Given the description of an element on the screen output the (x, y) to click on. 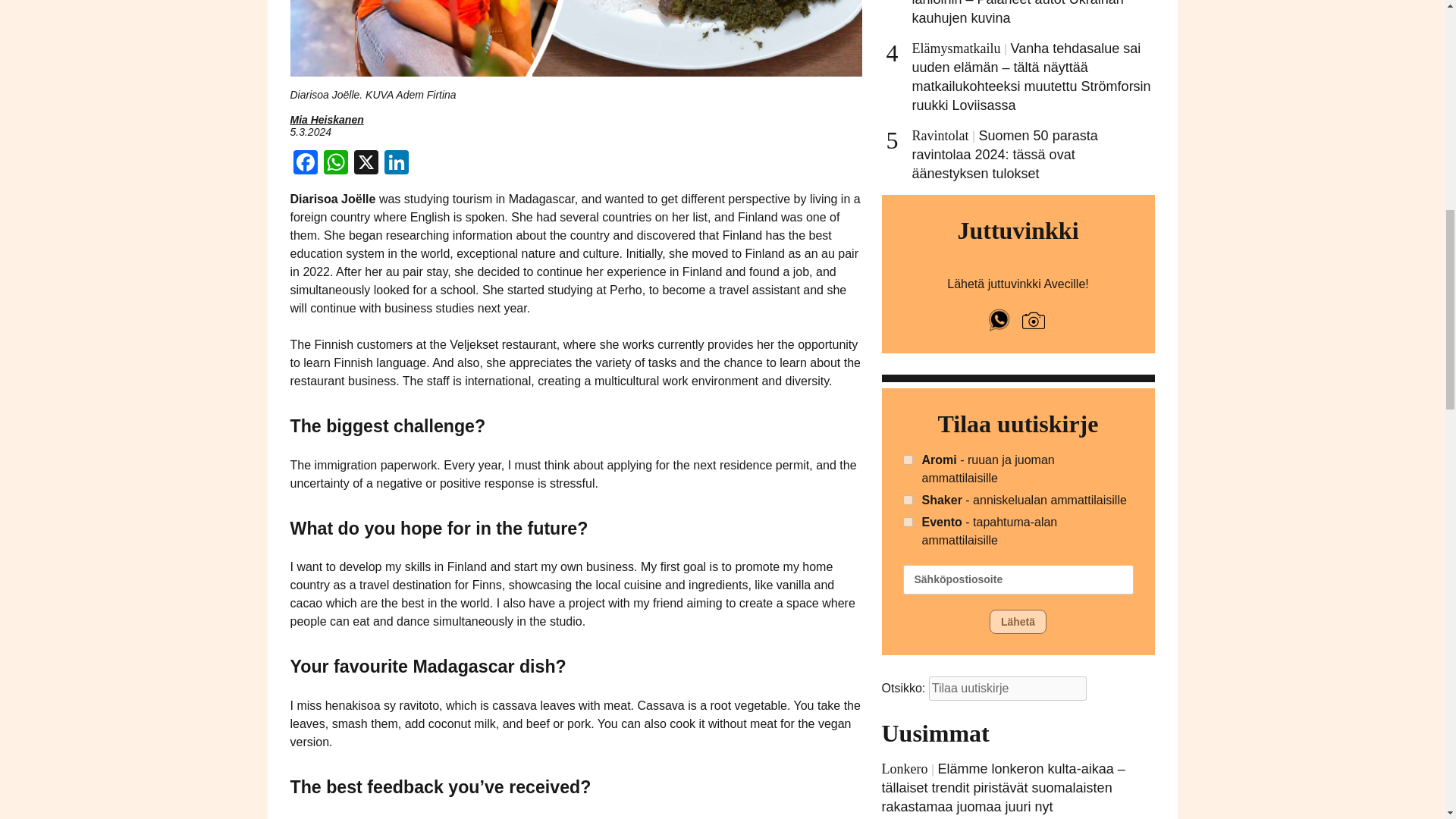
LinkedIn (395, 163)
on (907, 460)
X (365, 163)
on (907, 499)
Facebook (304, 163)
Tilaa uutiskirje (1007, 688)
WhatsApp (335, 163)
on (907, 521)
